Given the description of an element on the screen output the (x, y) to click on. 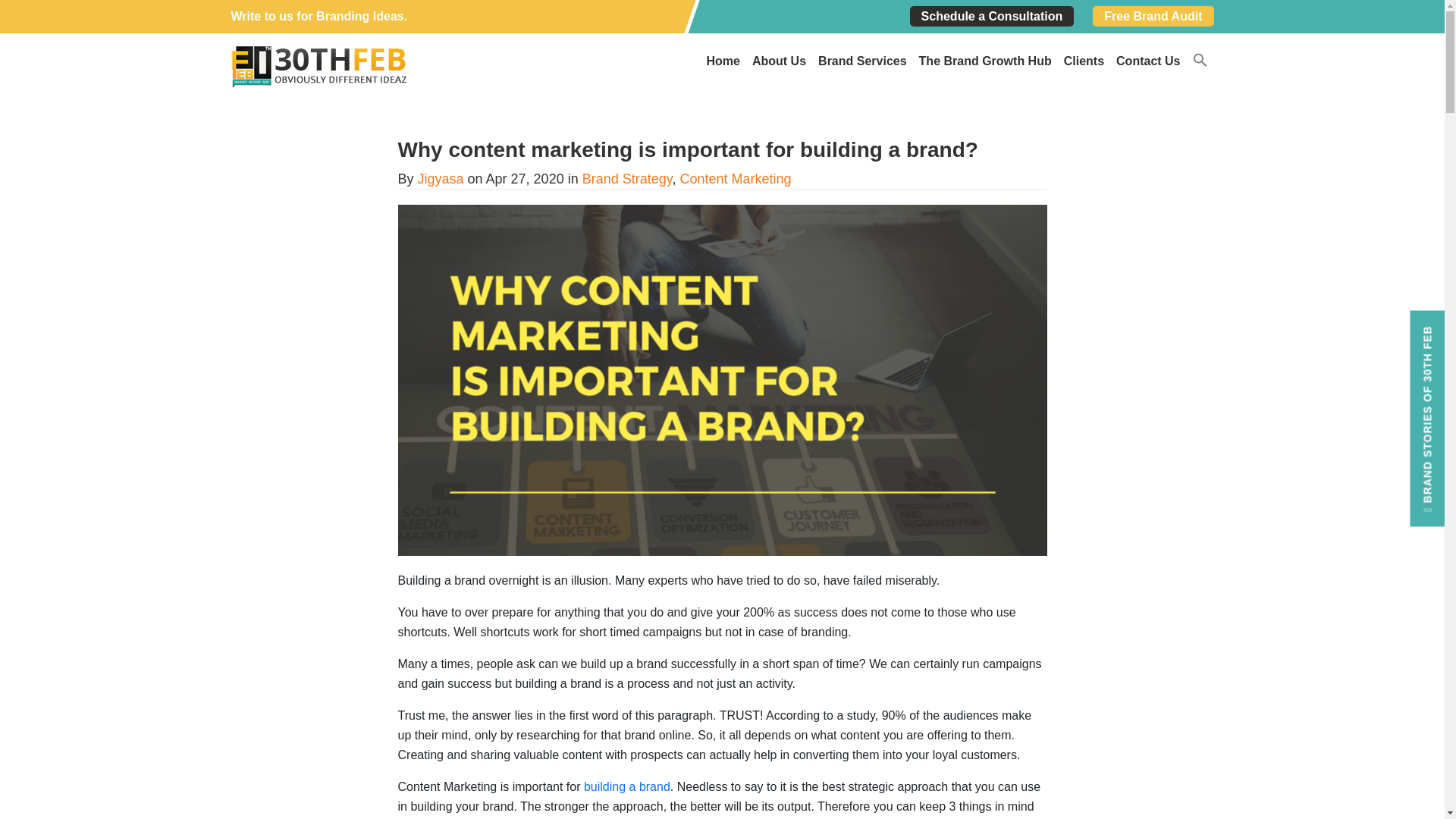
About Us (778, 61)
Clients (1083, 61)
Schedule a Consultation (992, 15)
Brand Strategy (627, 178)
Free Brand Audit (1152, 15)
Jigyasa (440, 178)
Brand Services (862, 61)
Posts by Jigyasa (440, 178)
Home (722, 61)
Content Marketing (734, 178)
building a brand (626, 786)
Write to us for Branding Ideas. (318, 15)
The Brand Growth Hub (985, 61)
Contact Us (1147, 61)
